Given the description of an element on the screen output the (x, y) to click on. 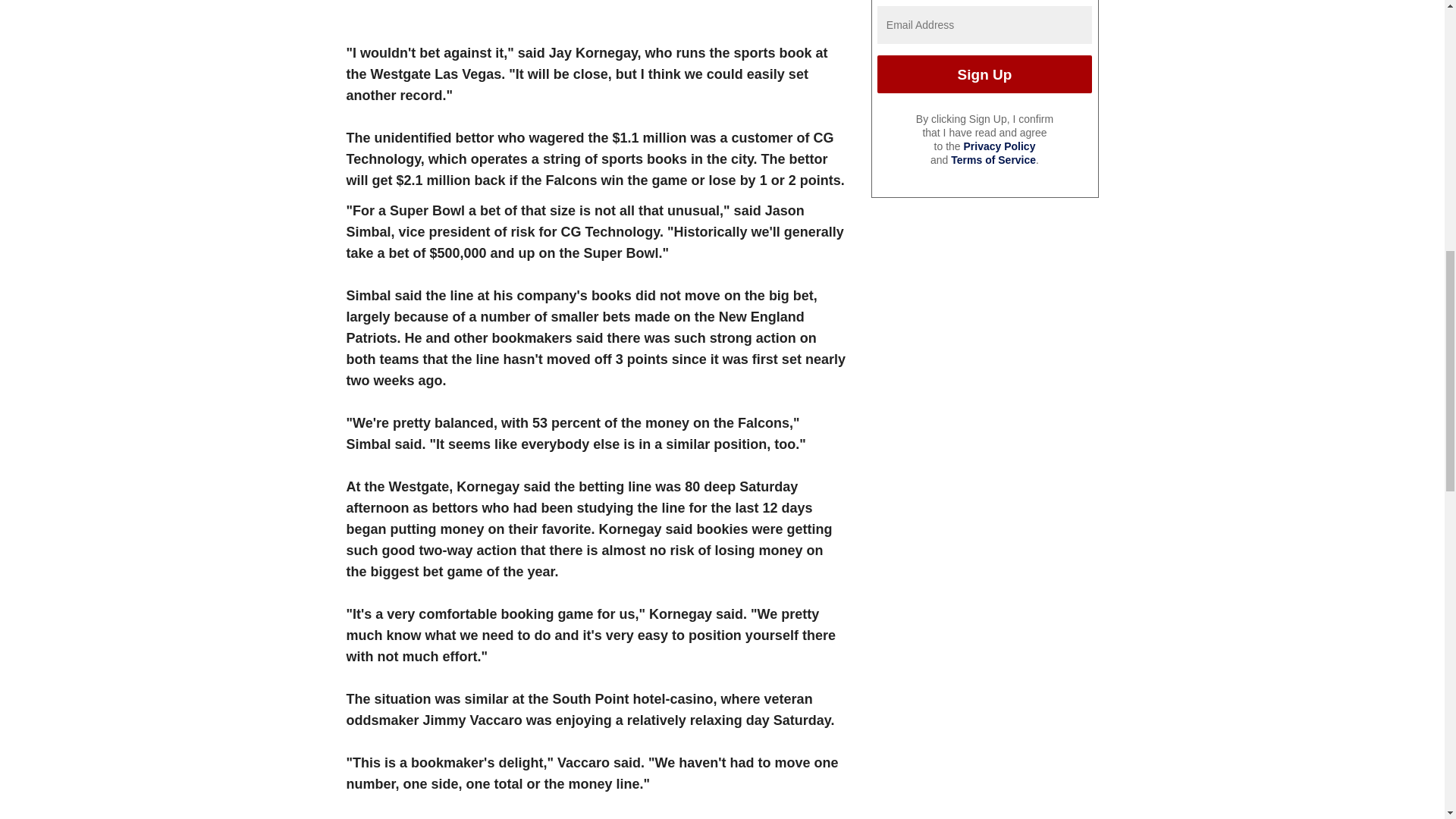
Sign Up (984, 74)
